Given the description of an element on the screen output the (x, y) to click on. 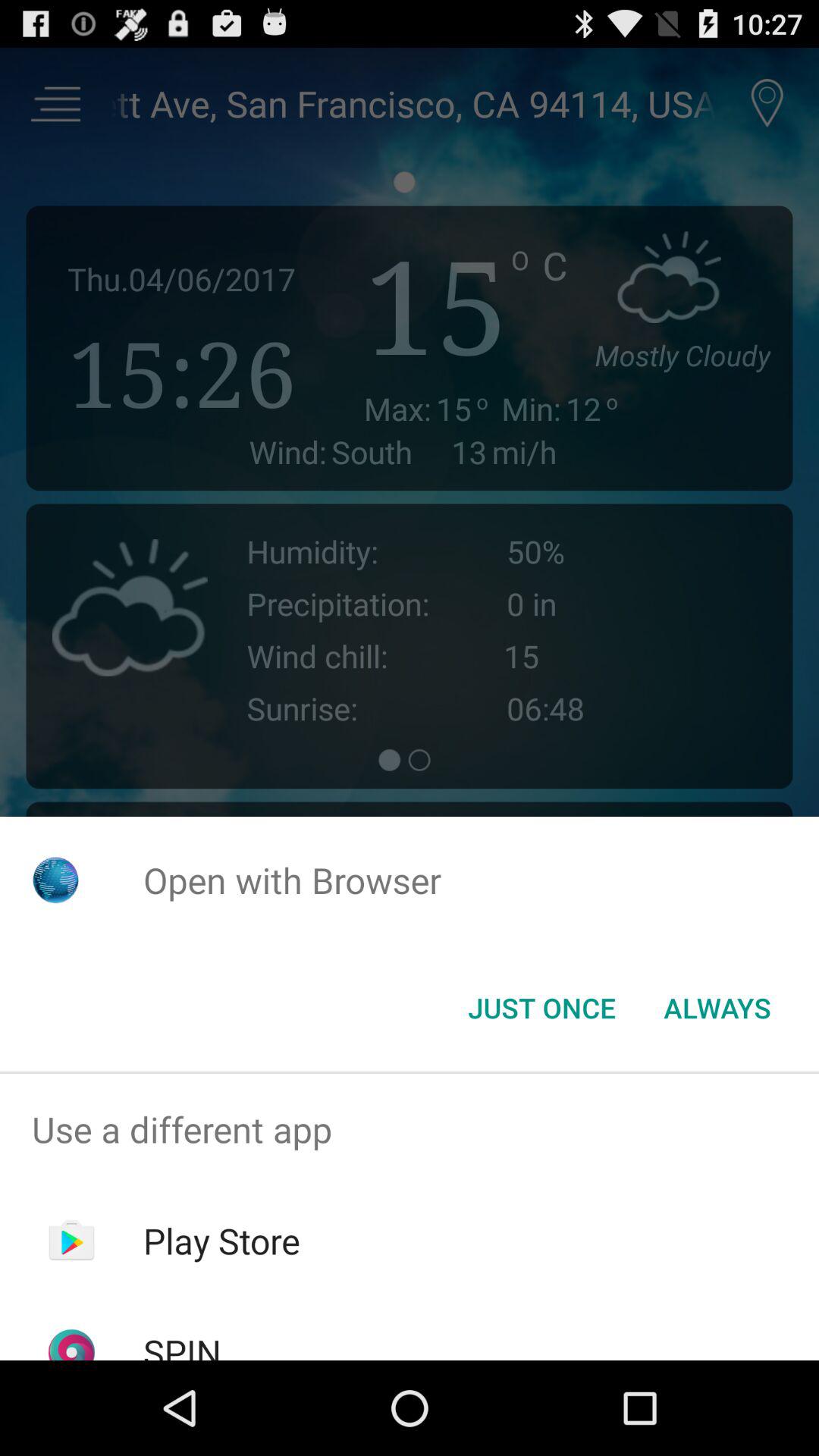
launch the app below open with browser item (541, 1007)
